Given the description of an element on the screen output the (x, y) to click on. 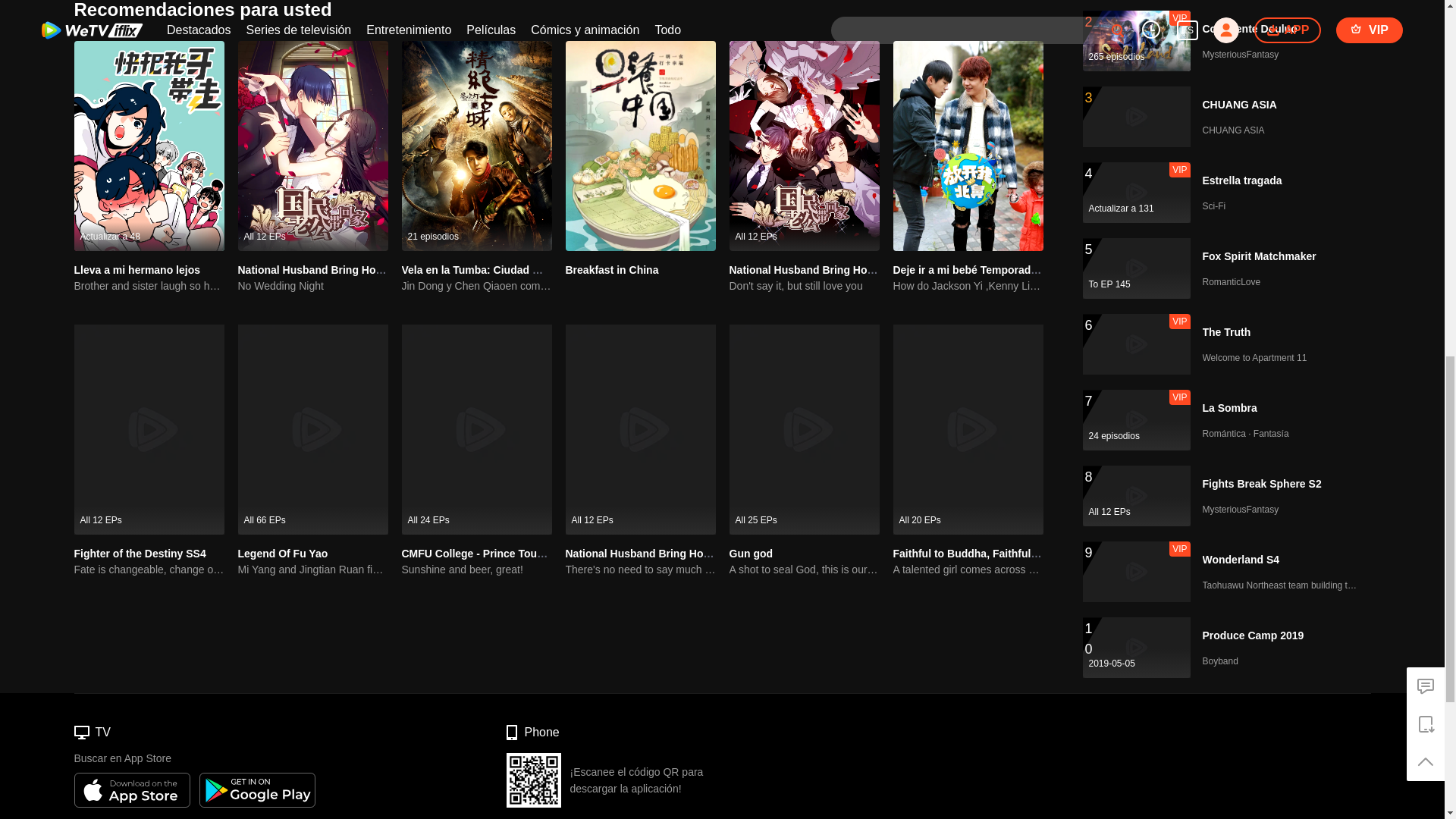
Lleva a mi hermano lejos (137, 269)
No Wedding Night (313, 286)
Breakfast in China (612, 269)
National Husband Bring Home SS2 (817, 269)
Fighter of the Destiny SS4 (140, 553)
National Husband Bring Home SS1 (326, 269)
Brother and sister laugh so hard everyday. (149, 286)
Jin Dong y Chen Qiaoen comienzaron una aventura (476, 286)
Vela en la Tumba: Ciudad Misteriosa (493, 269)
Don't say it, but still love you (804, 286)
